Given the description of an element on the screen output the (x, y) to click on. 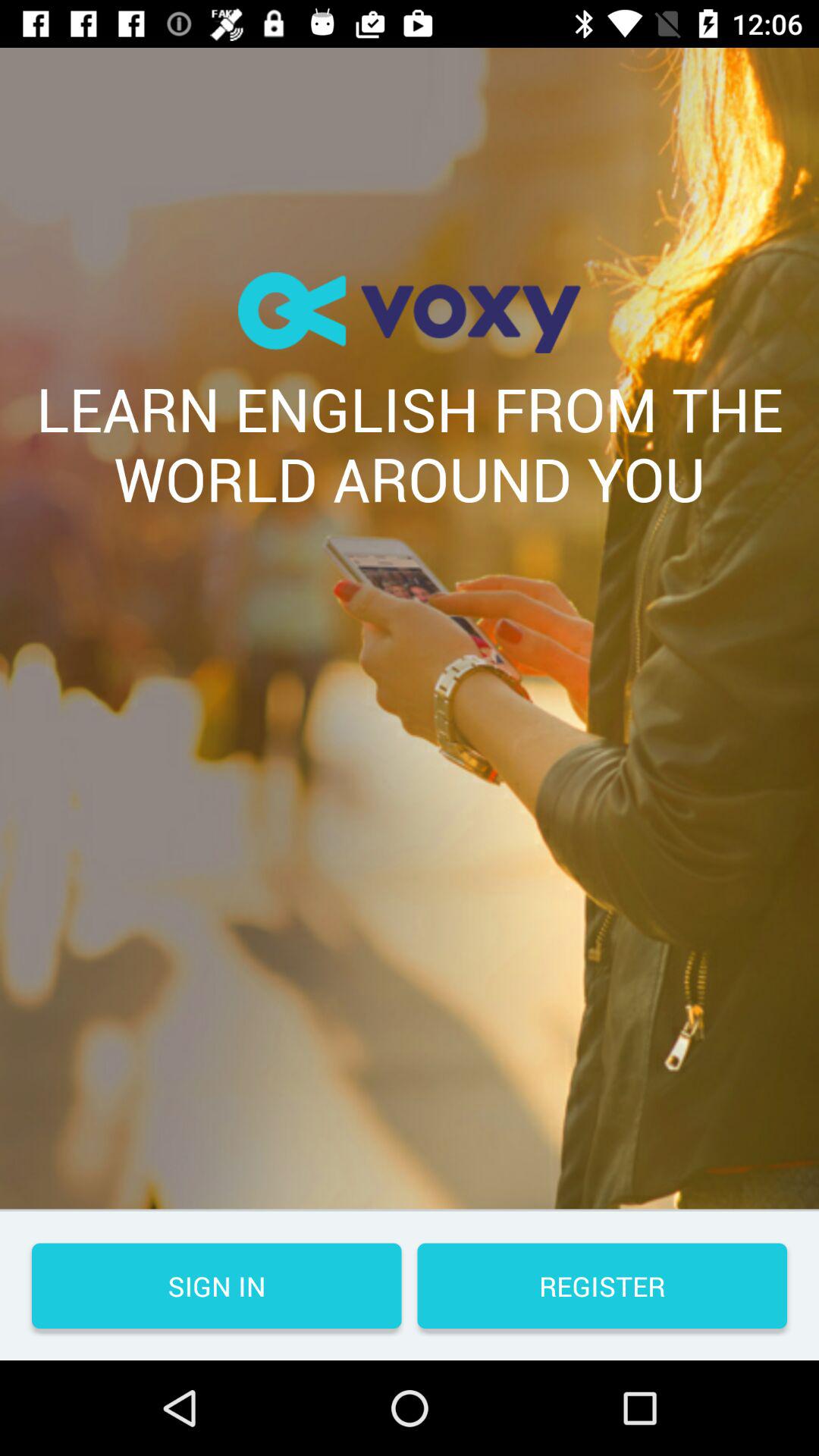
press the button to the left of register button (216, 1285)
